Given the description of an element on the screen output the (x, y) to click on. 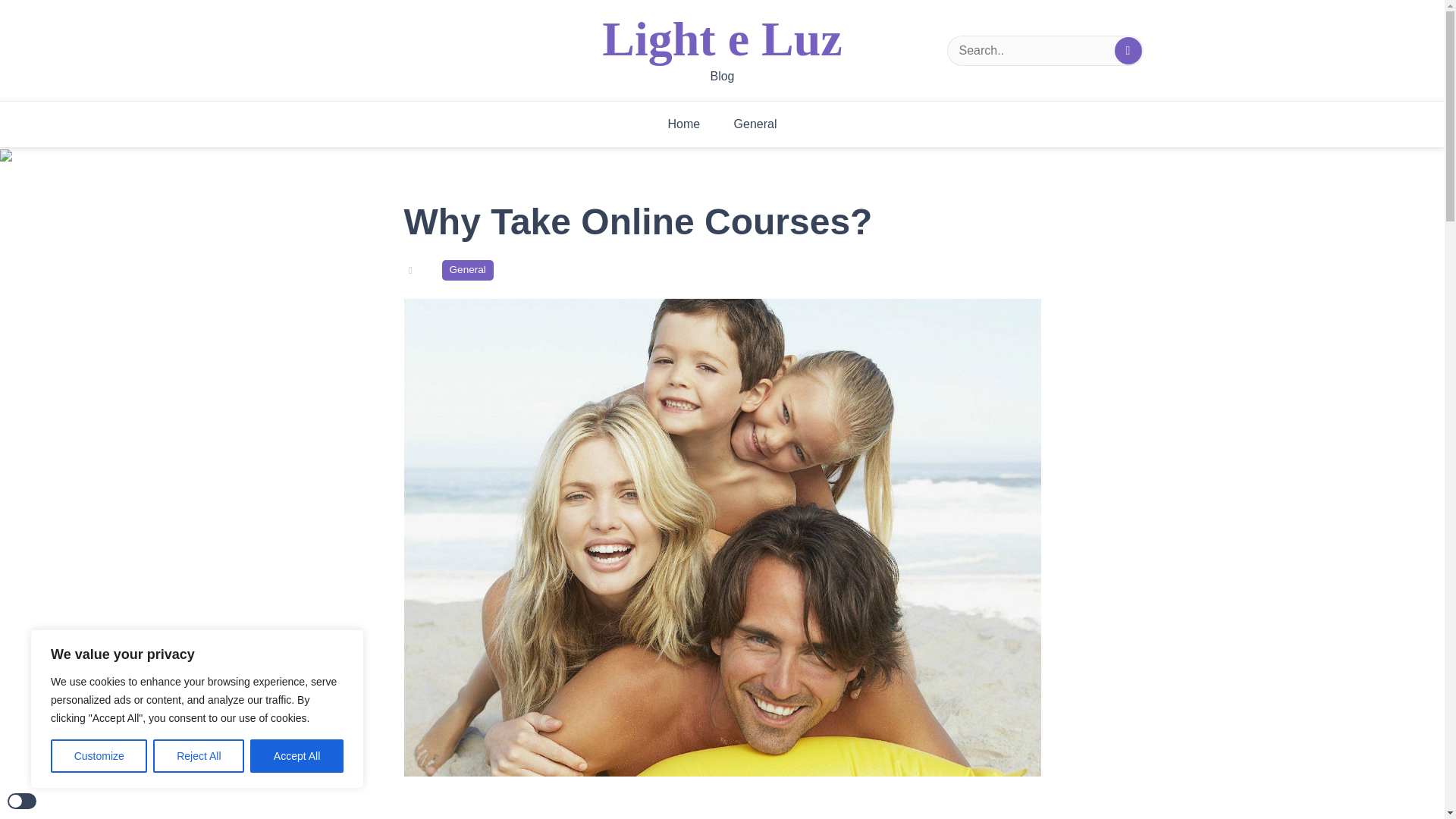
Customize (98, 756)
Home (683, 123)
Light e Luz (721, 39)
General (755, 123)
Reject All (198, 756)
General (467, 270)
Accept All (296, 756)
